Given the description of an element on the screen output the (x, y) to click on. 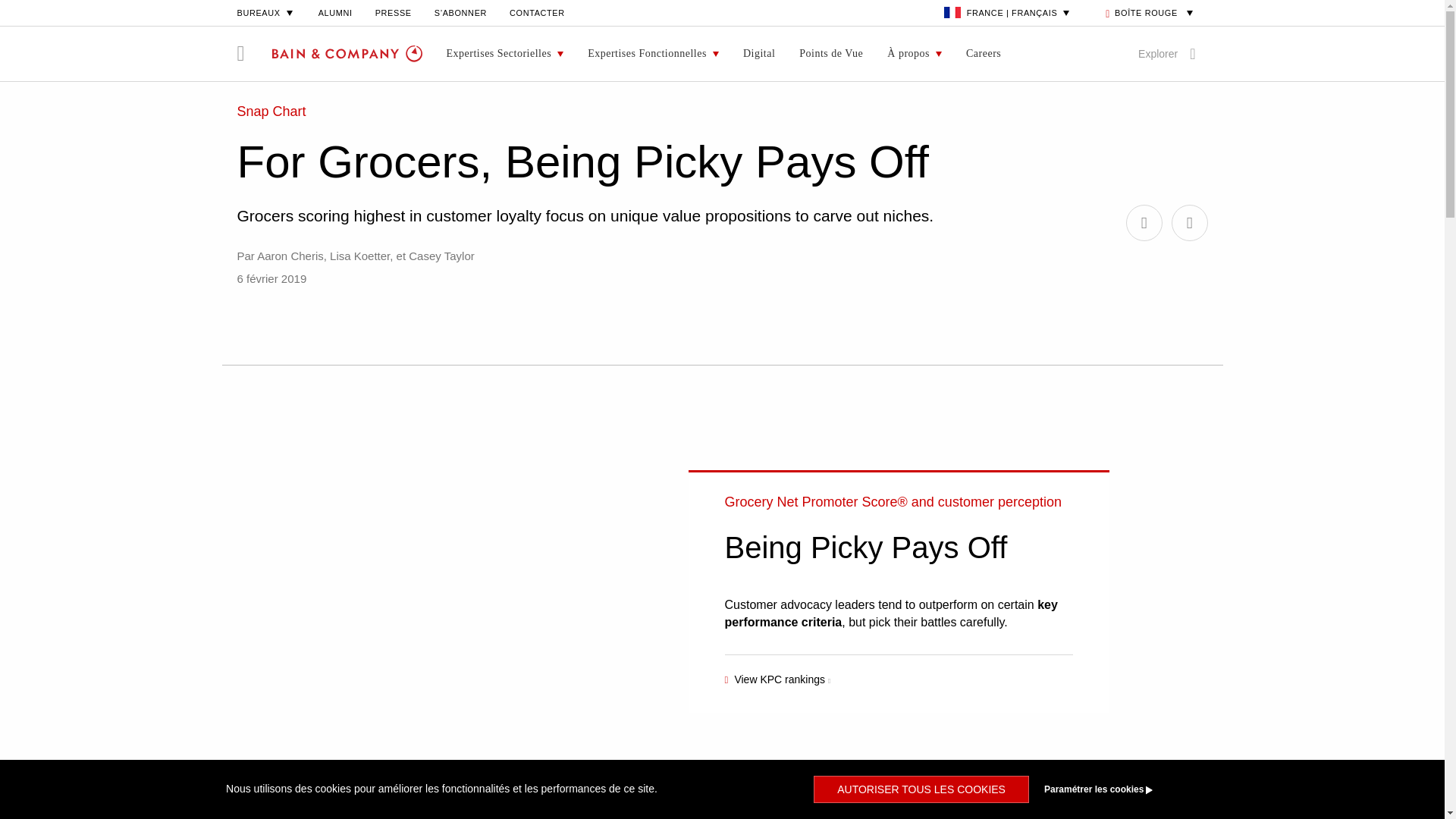
BUREAUX (265, 12)
AUTORISER TOUS LES COOKIES (921, 789)
